Given the description of an element on the screen output the (x, y) to click on. 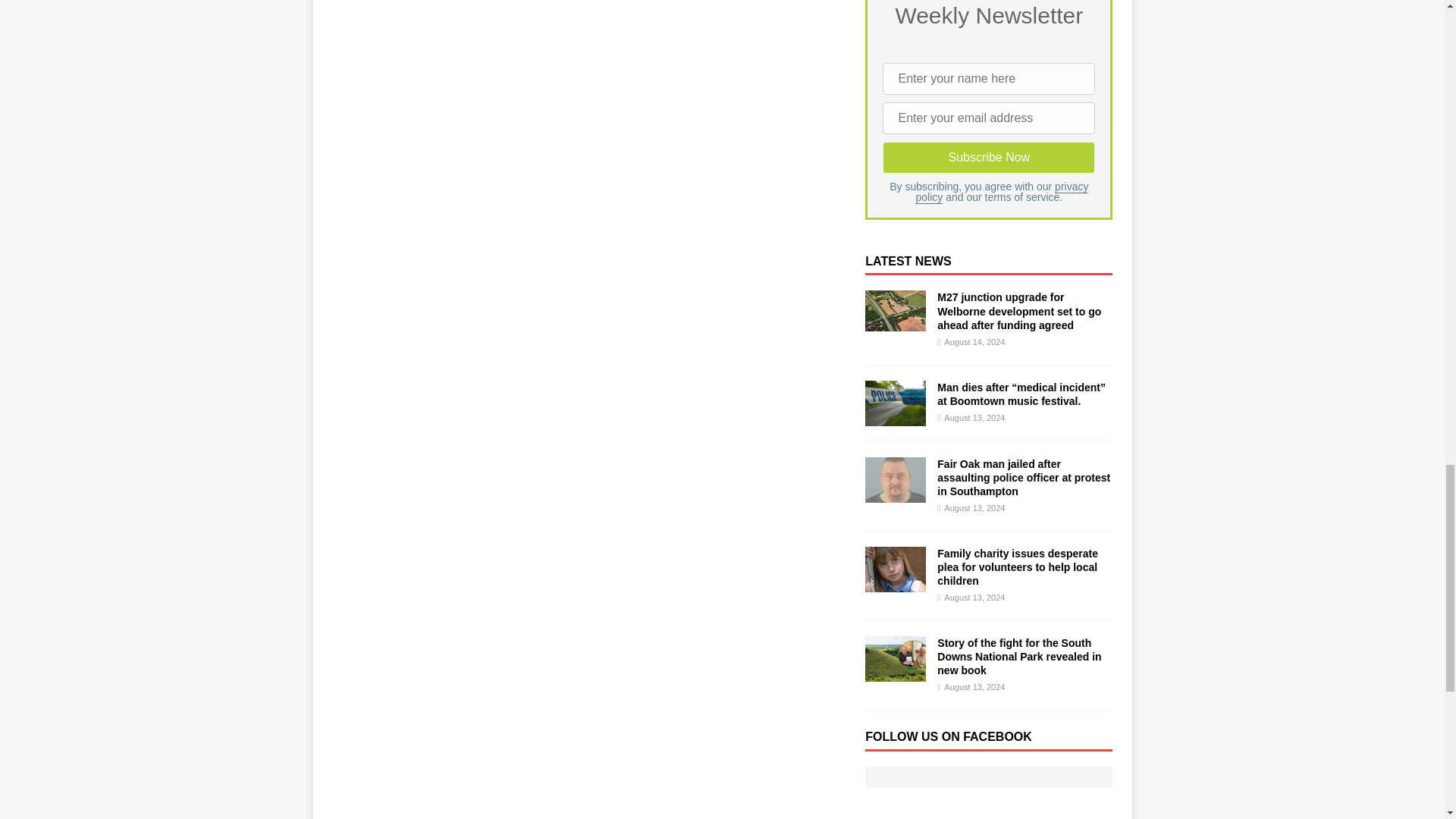
Subscribe Now (988, 157)
